Given the description of an element on the screen output the (x, y) to click on. 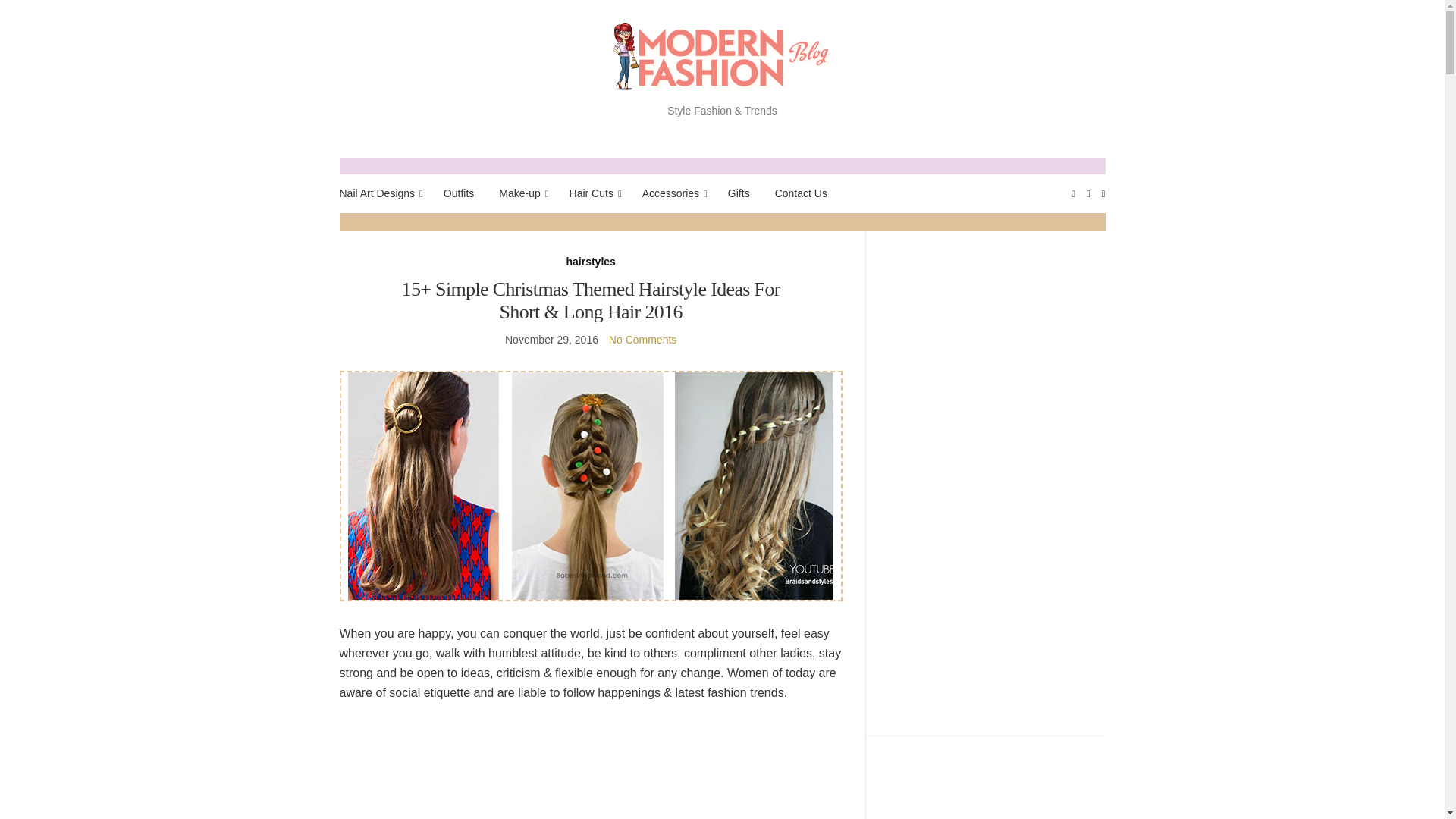
Make-up (521, 193)
No Comments (642, 339)
hairstyles (590, 262)
Contact Us (800, 193)
Nail Art Designs (379, 193)
Gifts (738, 193)
Accessories (672, 193)
Outfits (459, 193)
Hair Cuts (593, 193)
